Given the description of an element on the screen output the (x, y) to click on. 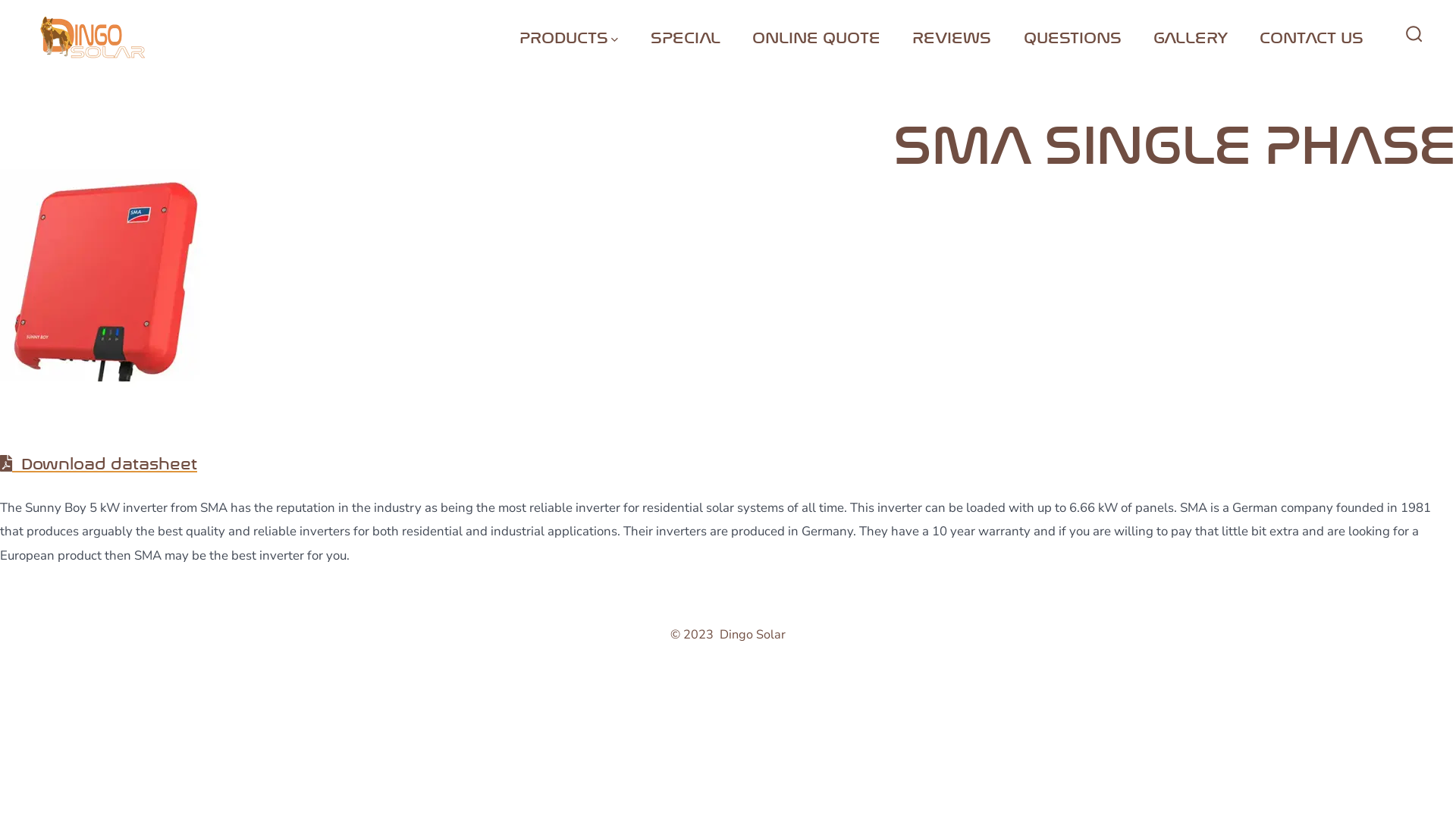
QUESTIONS Element type: text (1072, 35)
PRODUCTS Element type: text (568, 35)
REVIEWS Element type: text (951, 35)
ONLINE QUOTE Element type: text (816, 35)
CONTACT US Element type: text (1311, 35)
SPECIAL Element type: text (685, 35)
Search Toggle Element type: text (1413, 35)
GALLERY Element type: text (1190, 35)
